Given the description of an element on the screen output the (x, y) to click on. 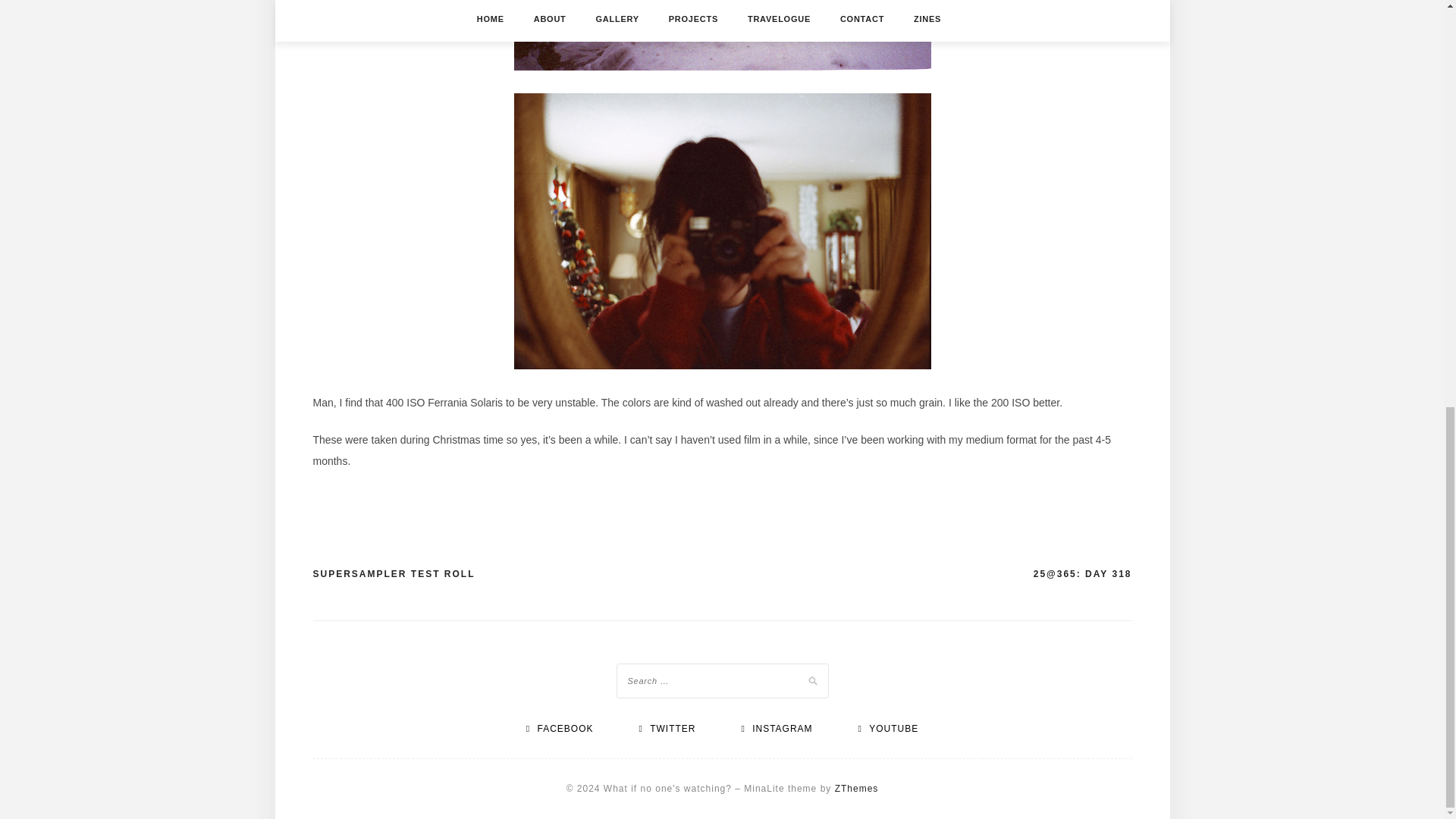
FACEBOOK (559, 728)
TWITTER (667, 728)
YOUTUBE (887, 728)
ZThemes (856, 787)
INSTAGRAM (776, 728)
SUPERSAMPLER TEST ROLL (393, 574)
